Given the description of an element on the screen output the (x, y) to click on. 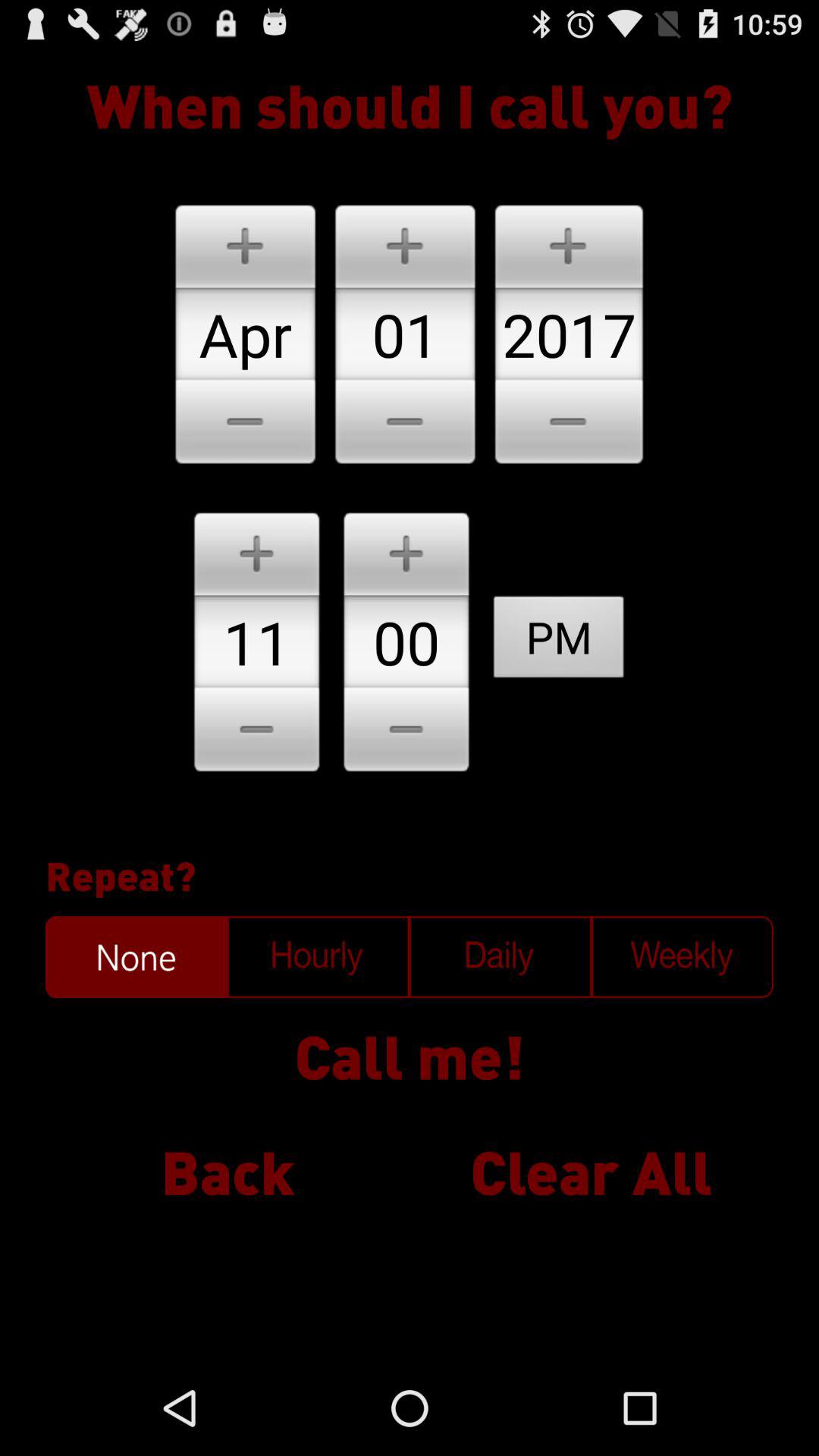
toggle hourly repeat (318, 957)
